Given the description of an element on the screen output the (x, y) to click on. 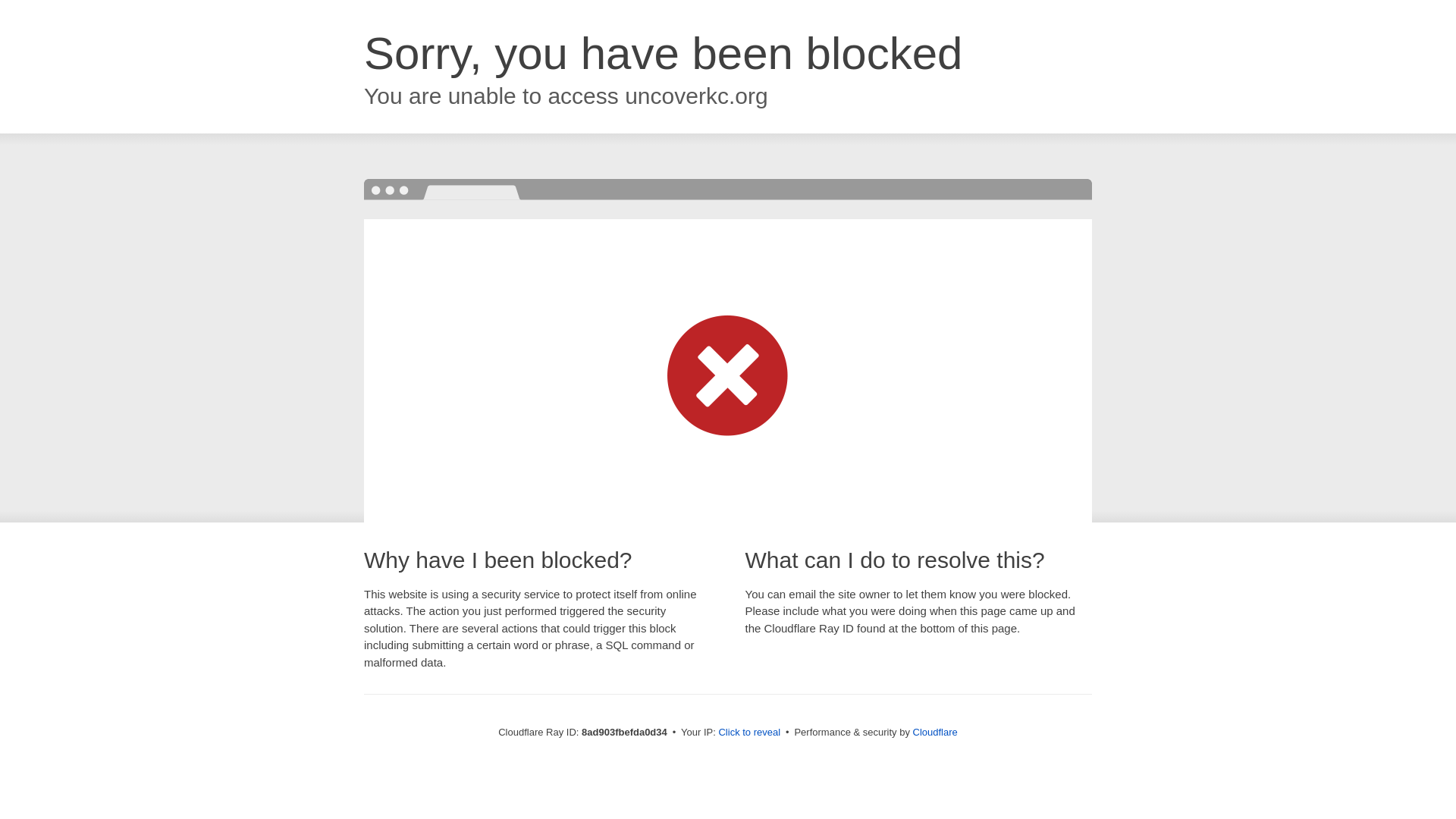
Click to reveal (750, 732)
Cloudflare (936, 731)
